Given the description of an element on the screen output the (x, y) to click on. 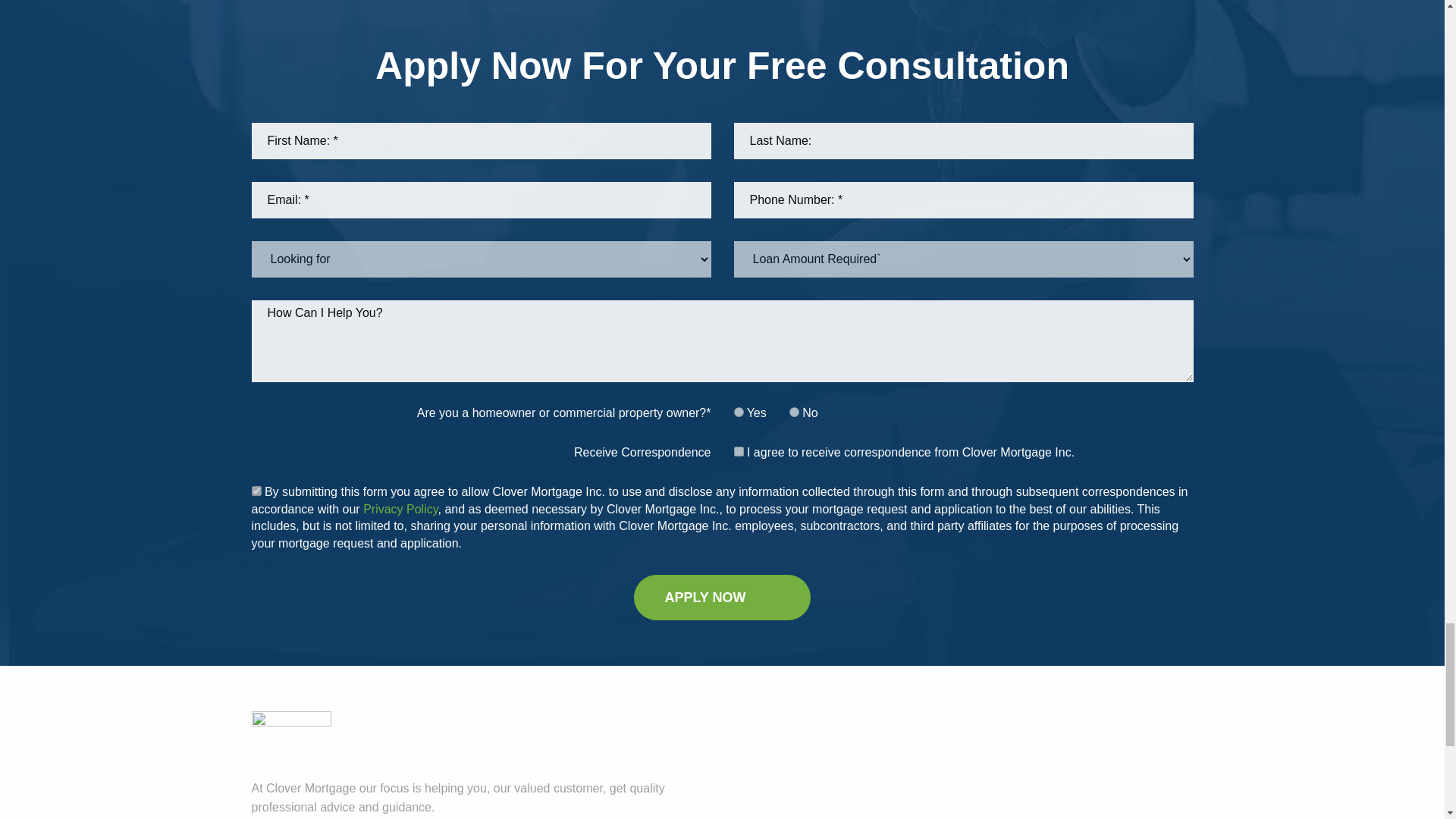
Privacy Policy (400, 508)
Yes (738, 411)
APPLY NOW (721, 596)
No (794, 411)
